Given the description of an element on the screen output the (x, y) to click on. 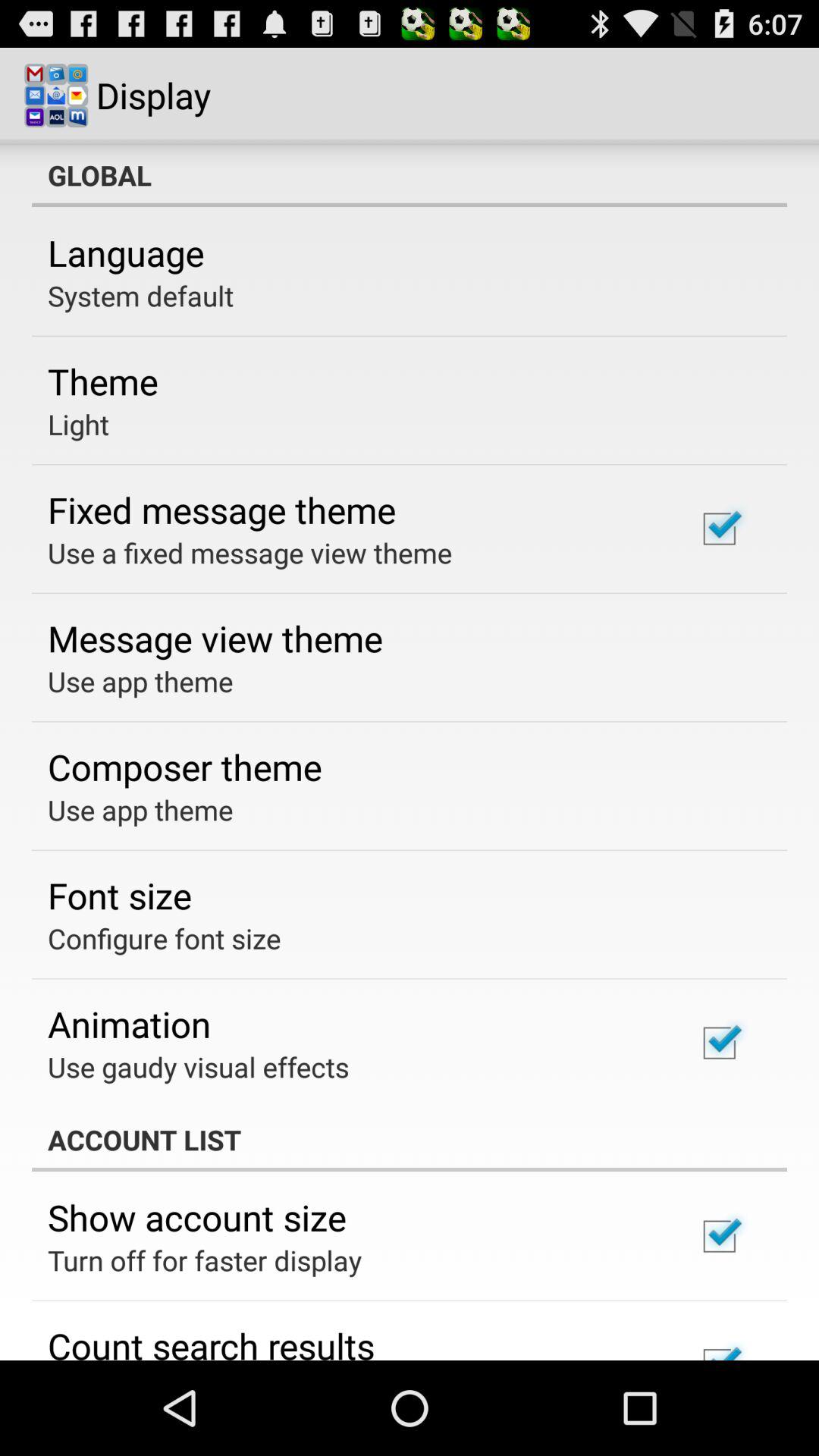
tap icon above the count search results icon (204, 1260)
